Given the description of an element on the screen output the (x, y) to click on. 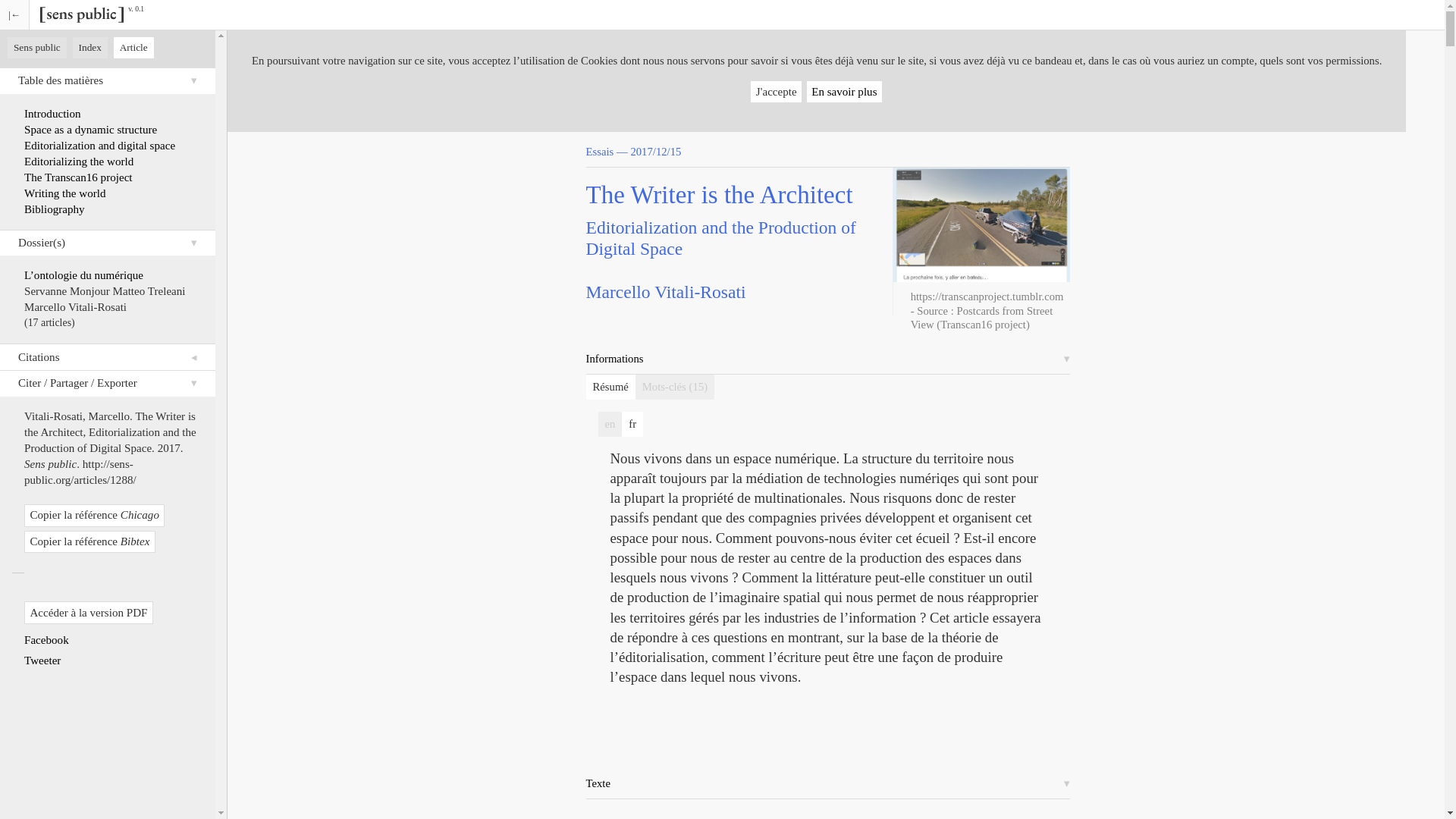
index (89, 47)
Article (133, 47)
Index (89, 47)
menu (14, 14)
page (133, 47)
Sens public (36, 47)
navigation (36, 47)
